Given the description of an element on the screen output the (x, y) to click on. 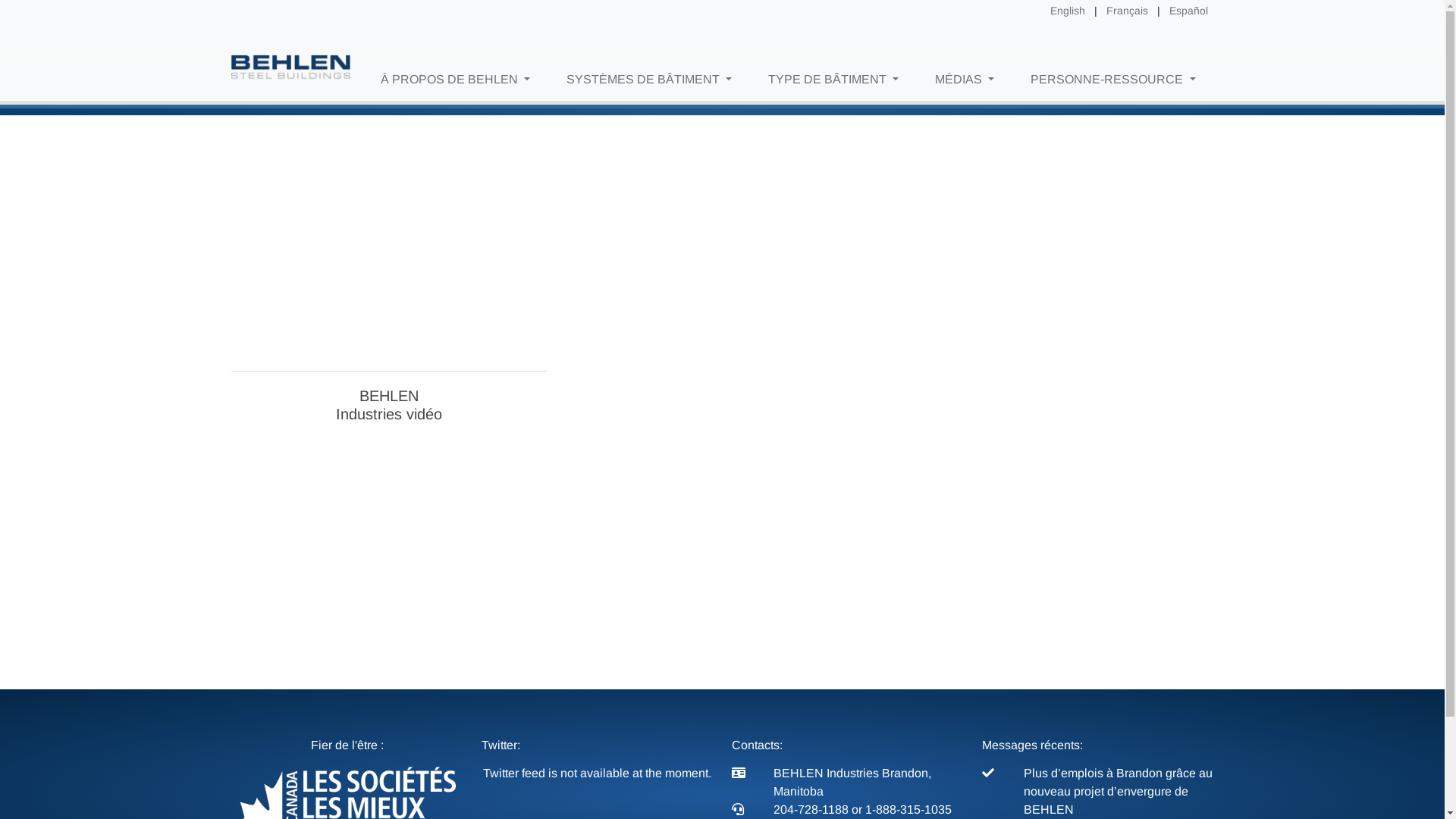
1-888-315-1035 Element type: text (907, 809)
PERSONNE-RESSOURCE Element type: text (1112, 79)
204-728-1188 Element type: text (812, 809)
English Element type: text (1066, 10)
